Given the description of an element on the screen output the (x, y) to click on. 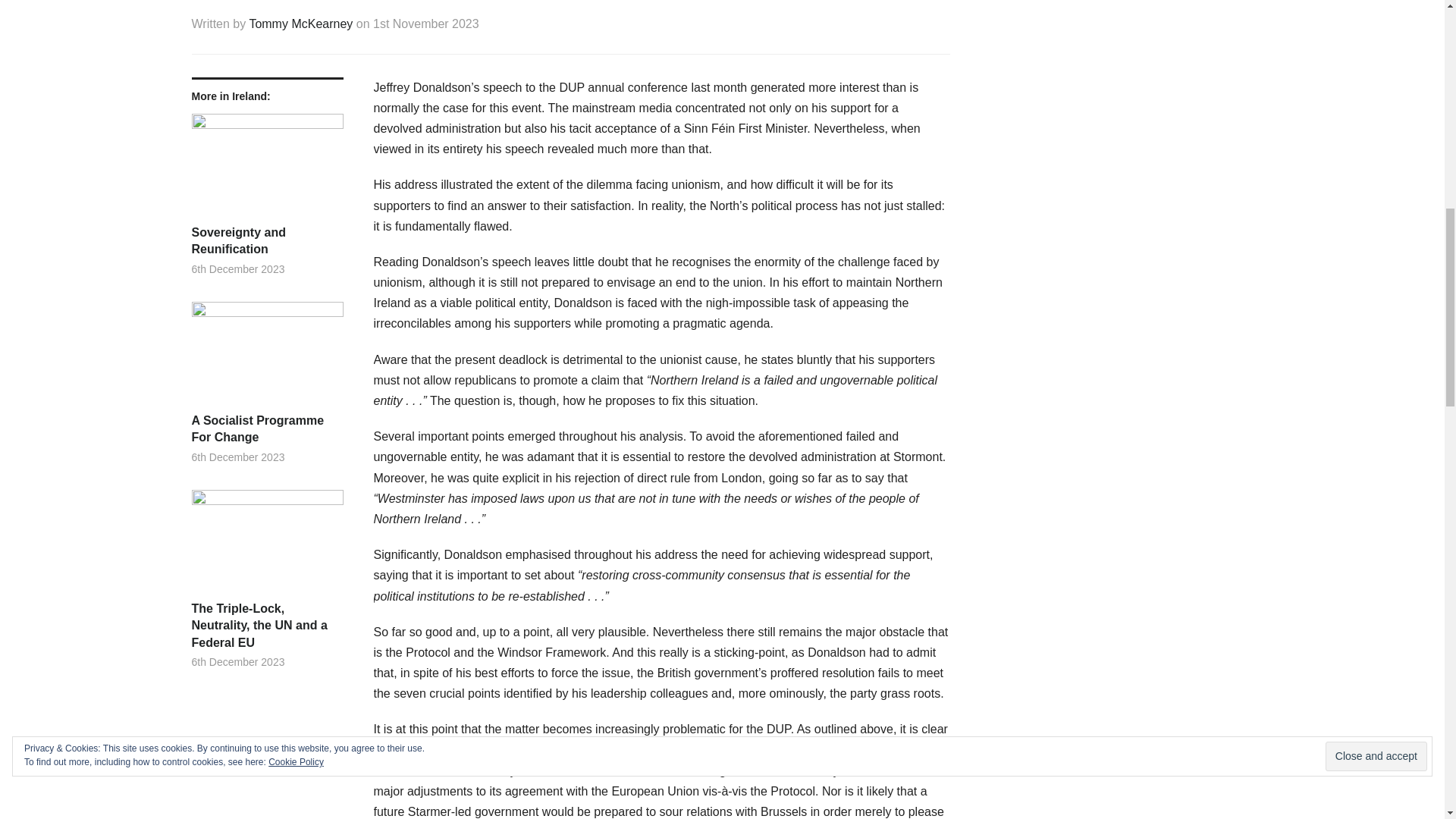
Permalink to Sovereignty and Reunification (266, 241)
Permalink to Sovereignty and Reunification (266, 168)
Permalink to A Socialist Programme For Change (266, 357)
Permalink to A Socialist Programme For Change (266, 429)
